Given the description of an element on the screen output the (x, y) to click on. 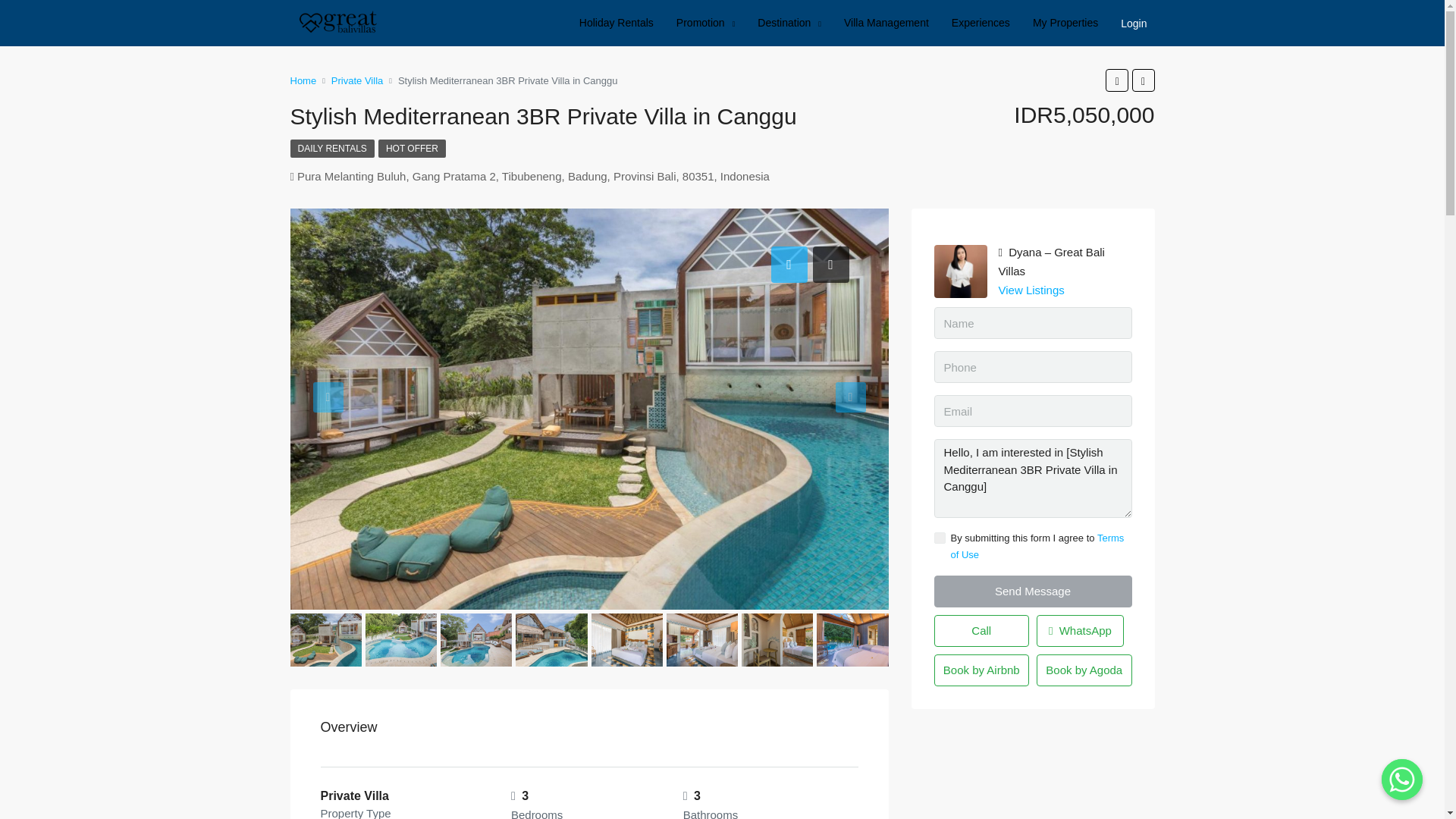
Login (1137, 22)
Destination (788, 23)
My Properties (1065, 22)
Experiences (981, 22)
Holiday Rentals (616, 22)
Villa Management (886, 22)
Promotion (705, 23)
